Given the description of an element on the screen output the (x, y) to click on. 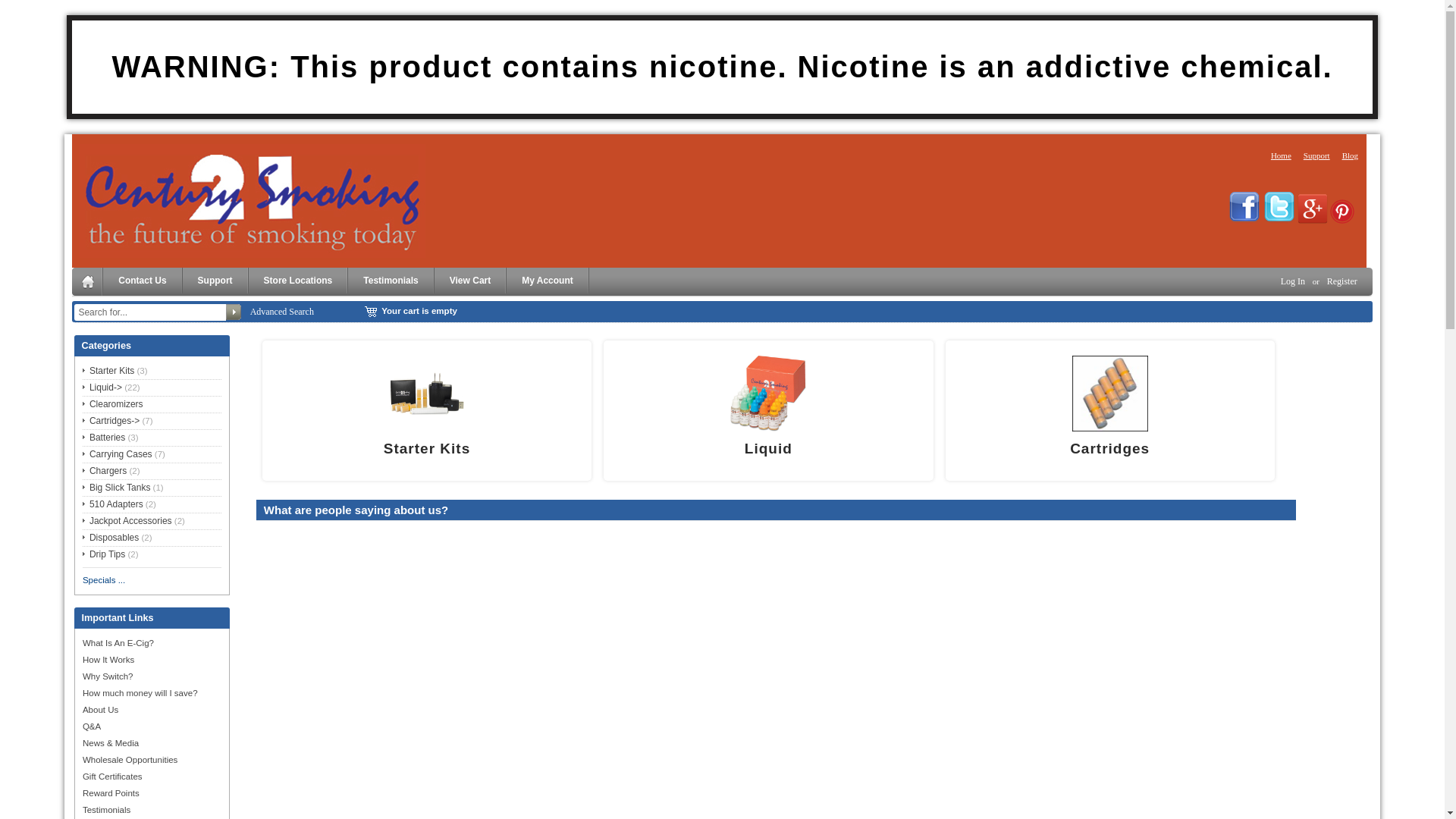
Liquid-> Element type: text (102, 387)
Carrying Cases Element type: text (117, 453)
News & Media Element type: text (110, 742)
Gift Certificates Element type: text (112, 776)
 Cartridges Element type: hover (1110, 393)
 Starter Kits  Element type: hover (426, 393)
Cartridges Element type: text (1109, 448)
Cartridges-> Element type: text (110, 420)
Disposables Element type: text (110, 537)
My Account Element type: text (547, 280)
Big Slick Tanks Element type: text (116, 487)
Support Element type: text (214, 280)
Testimonials Element type: text (106, 809)
Batteries Element type: text (103, 437)
Q&A Element type: text (91, 726)
Wholesale Opportunities Element type: text (129, 759)
How much money will I save? Element type: text (139, 692)
Log In Element type: text (1292, 281)
Why Switch? Element type: text (107, 675)
Register Element type: text (1341, 281)
What Is An E-Cig? Element type: text (117, 642)
Drip Tips Element type: text (103, 554)
Starter Kits Element type: text (426, 448)
Specials ... Element type: text (103, 579)
Home Element type: text (1280, 155)
Jackpot Accessories Element type: text (127, 520)
Liquid Element type: hover (768, 393)
How It Works Element type: text (108, 659)
Support Element type: text (1316, 155)
About Us Element type: text (100, 709)
Blog Element type: text (1350, 155)
Starter Kits Element type: text (108, 370)
Liquid Element type: text (768, 448)
Clearomizers Element type: text (112, 403)
Contact Us Element type: text (142, 280)
Chargers Element type: text (104, 470)
Advanced Search Element type: text (281, 311)
510 Adapters Element type: text (112, 503)
Reward Points Element type: text (110, 792)
Store Locations Element type: text (298, 280)
Testimonials Element type: text (390, 280)
View Cart Element type: text (469, 280)
